Given the description of an element on the screen output the (x, y) to click on. 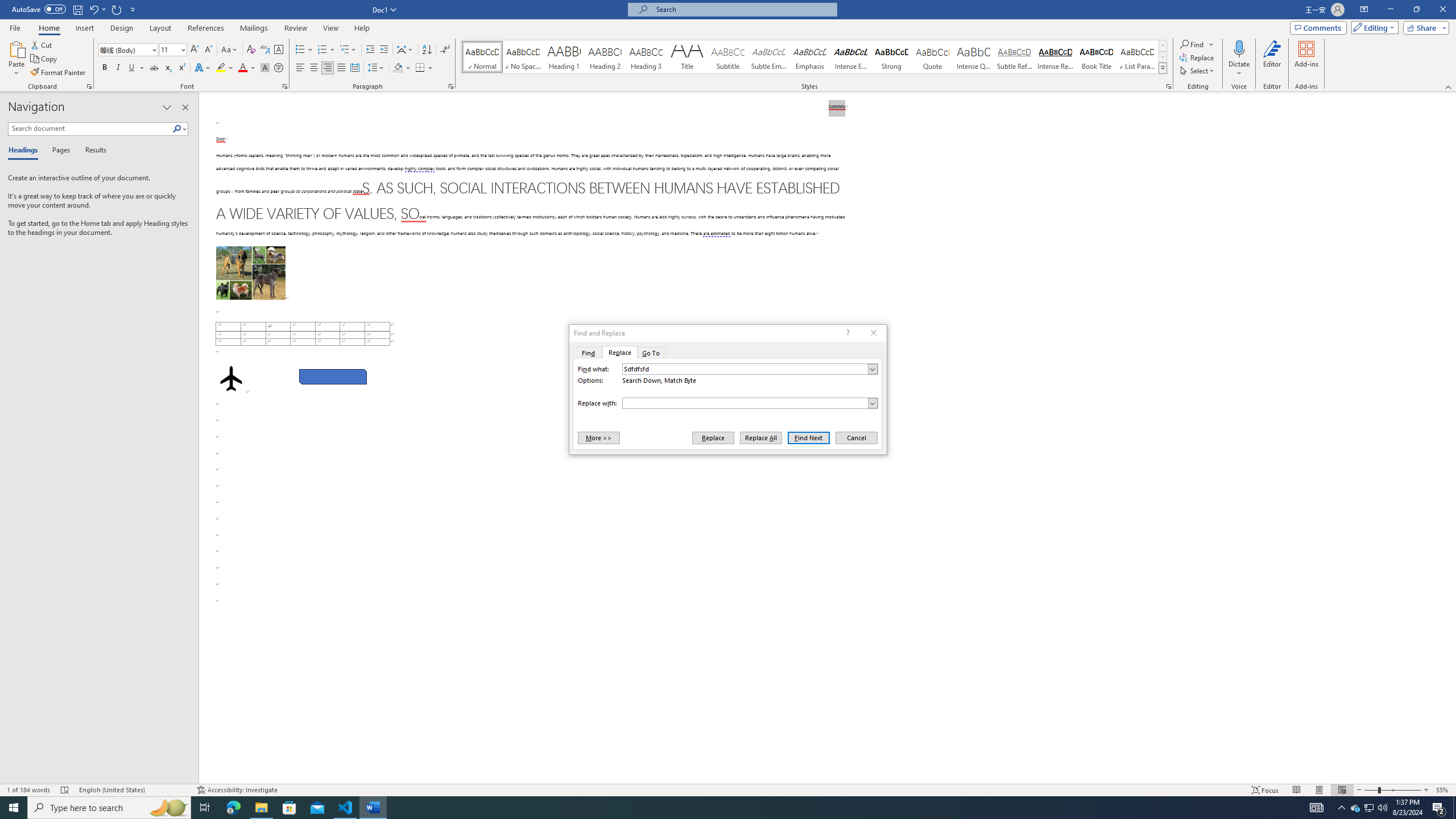
Character Border (278, 49)
Borders (424, 67)
Read Mode (1296, 790)
Zoom 55% (1443, 790)
Styles... (1168, 85)
Home (48, 28)
Font (128, 49)
Superscript (180, 67)
Font... (285, 85)
Bullets (304, 49)
Center (313, 67)
Justify (340, 67)
Paste (16, 58)
